Given the description of an element on the screen output the (x, y) to click on. 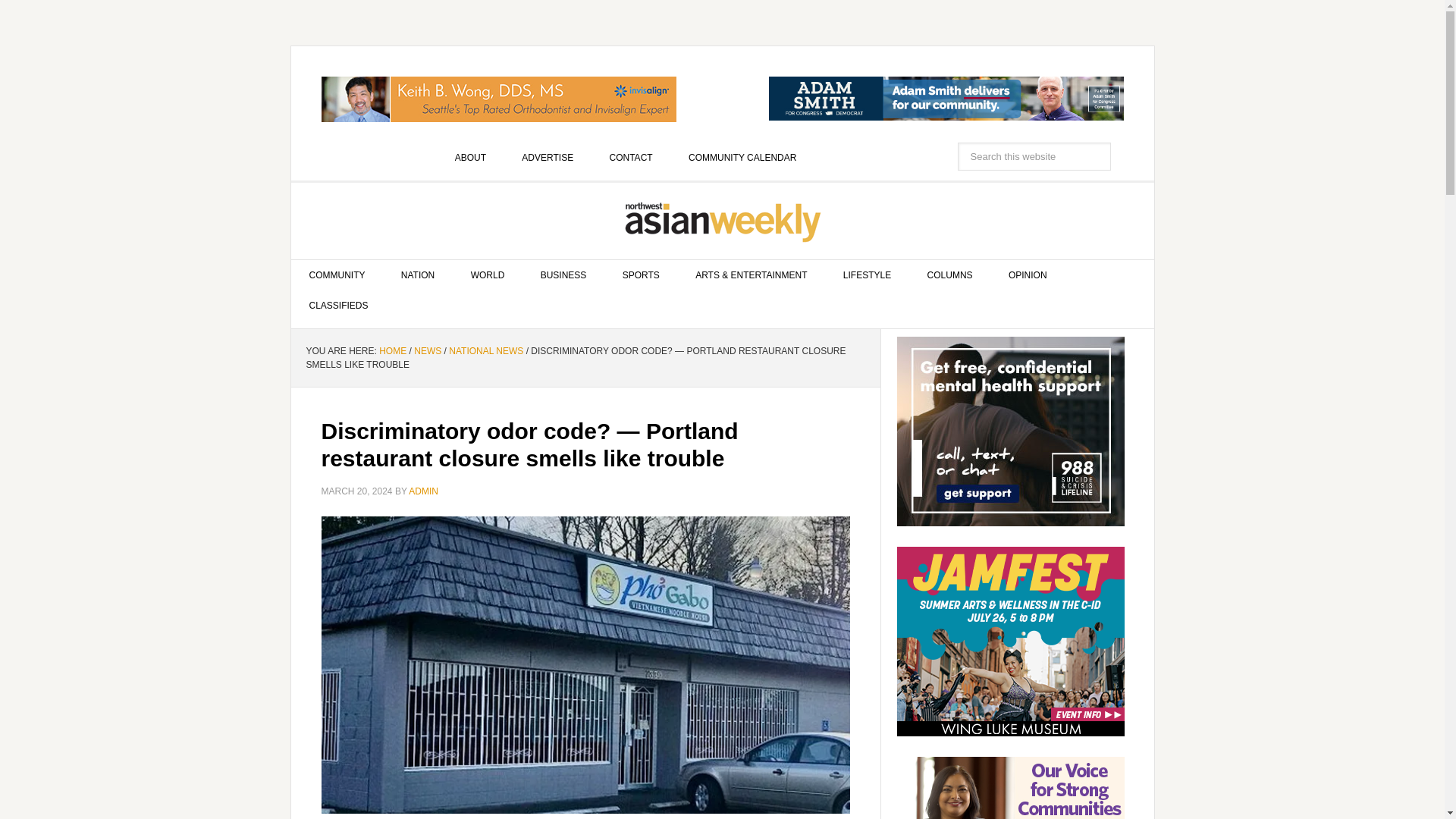
COMMUNITY (337, 275)
NORTHWEST ASIAN WEEKLY (722, 221)
ABOUT (469, 157)
CLASSIFIEDS (339, 305)
NATIONAL NEWS (485, 350)
WORLD (487, 275)
OPINION (1027, 275)
ADMIN (423, 491)
CONTACT (631, 157)
NATION (417, 275)
COMMUNITY CALENDAR (741, 157)
SPORTS (641, 275)
BUSINESS (563, 275)
